Given the description of an element on the screen output the (x, y) to click on. 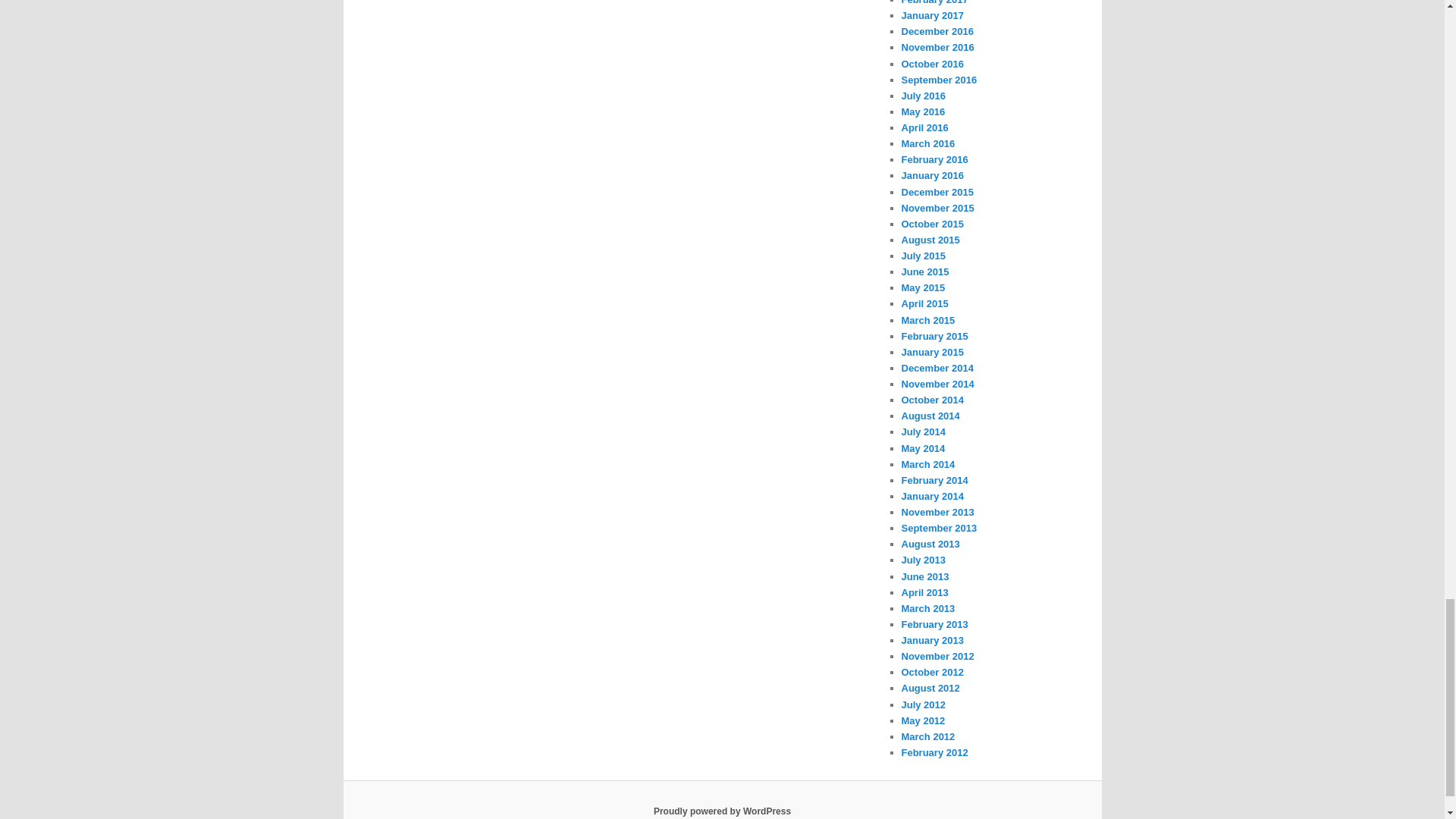
Semantic Personal Publishing Platform (721, 810)
